Given the description of an element on the screen output the (x, y) to click on. 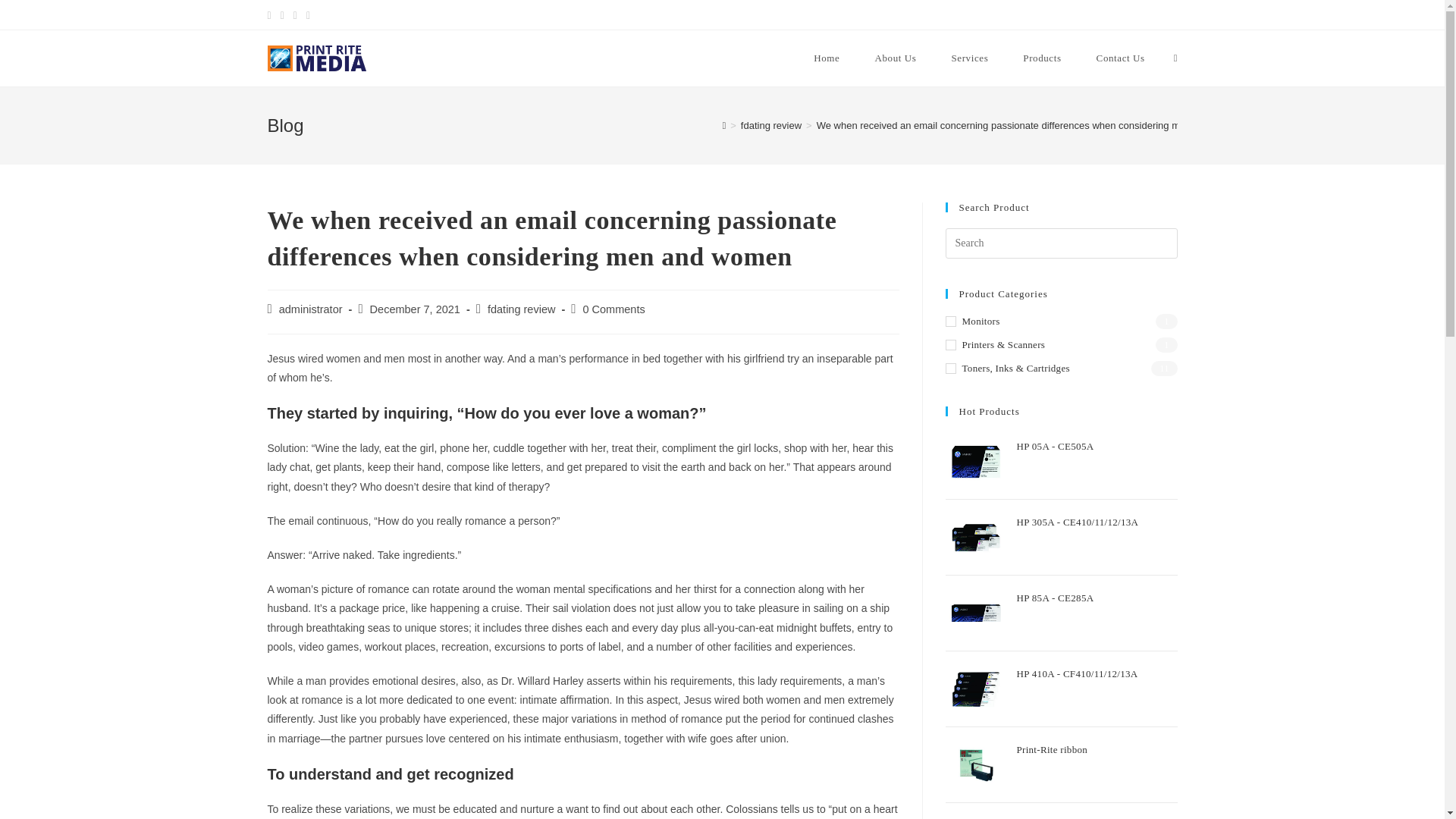
HP 85A - CE285A (1096, 602)
fdating review (771, 125)
Home (826, 58)
Contact Us (1119, 58)
Products (1042, 58)
About Us (895, 58)
fdating review (520, 309)
0 Comments (613, 309)
administrator (310, 309)
Monitors (1060, 321)
Print-Rite ribbon (1096, 753)
Posts by administrator (310, 309)
Services (969, 58)
HP 05A - CE505A (1096, 450)
